Given the description of an element on the screen output the (x, y) to click on. 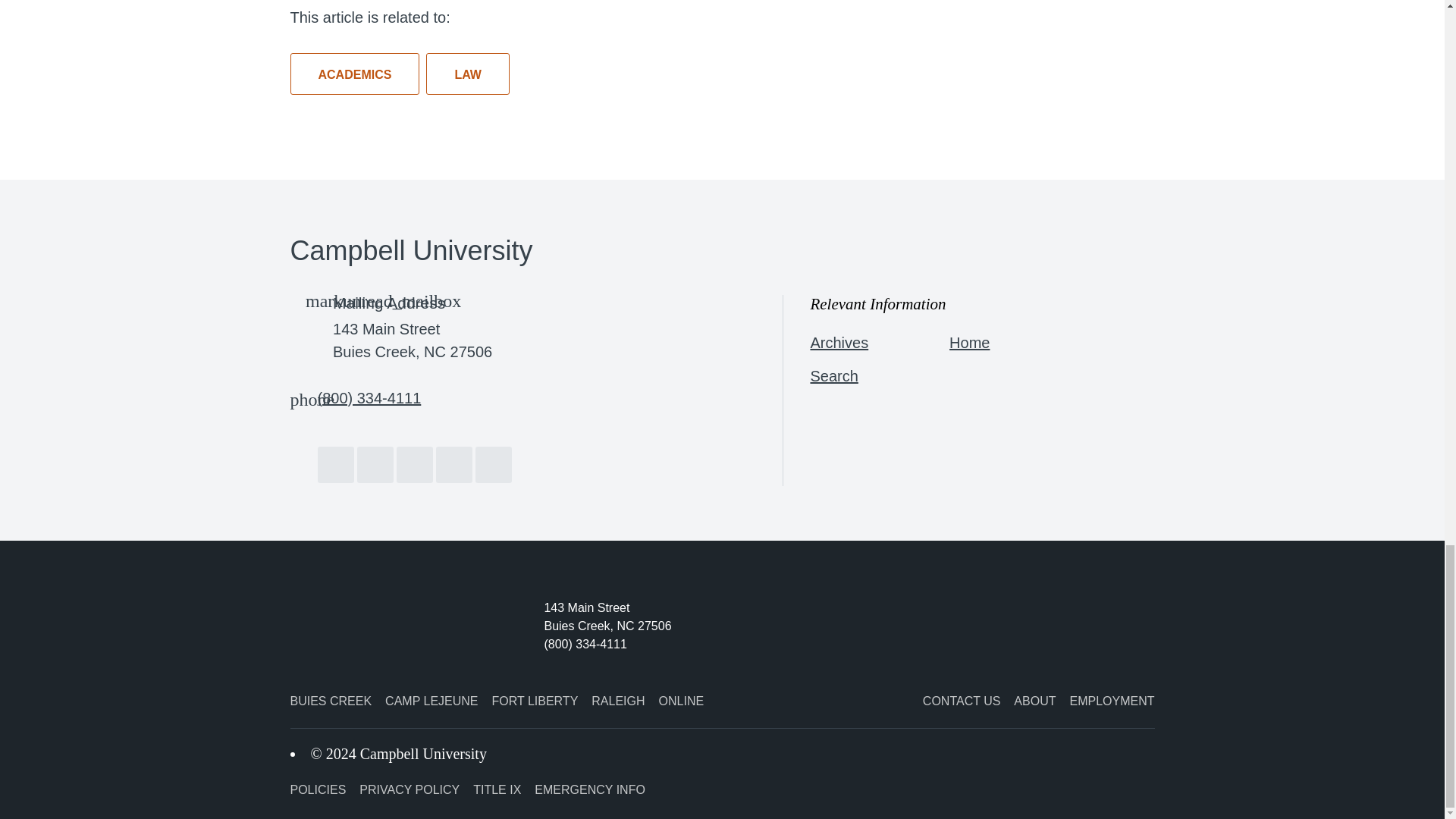
Follow Campbell University on Twitter (374, 464)
Follow Campbell University on Facebook (335, 464)
ACADEMICS (354, 74)
LAW (467, 74)
